Given the description of an element on the screen output the (x, y) to click on. 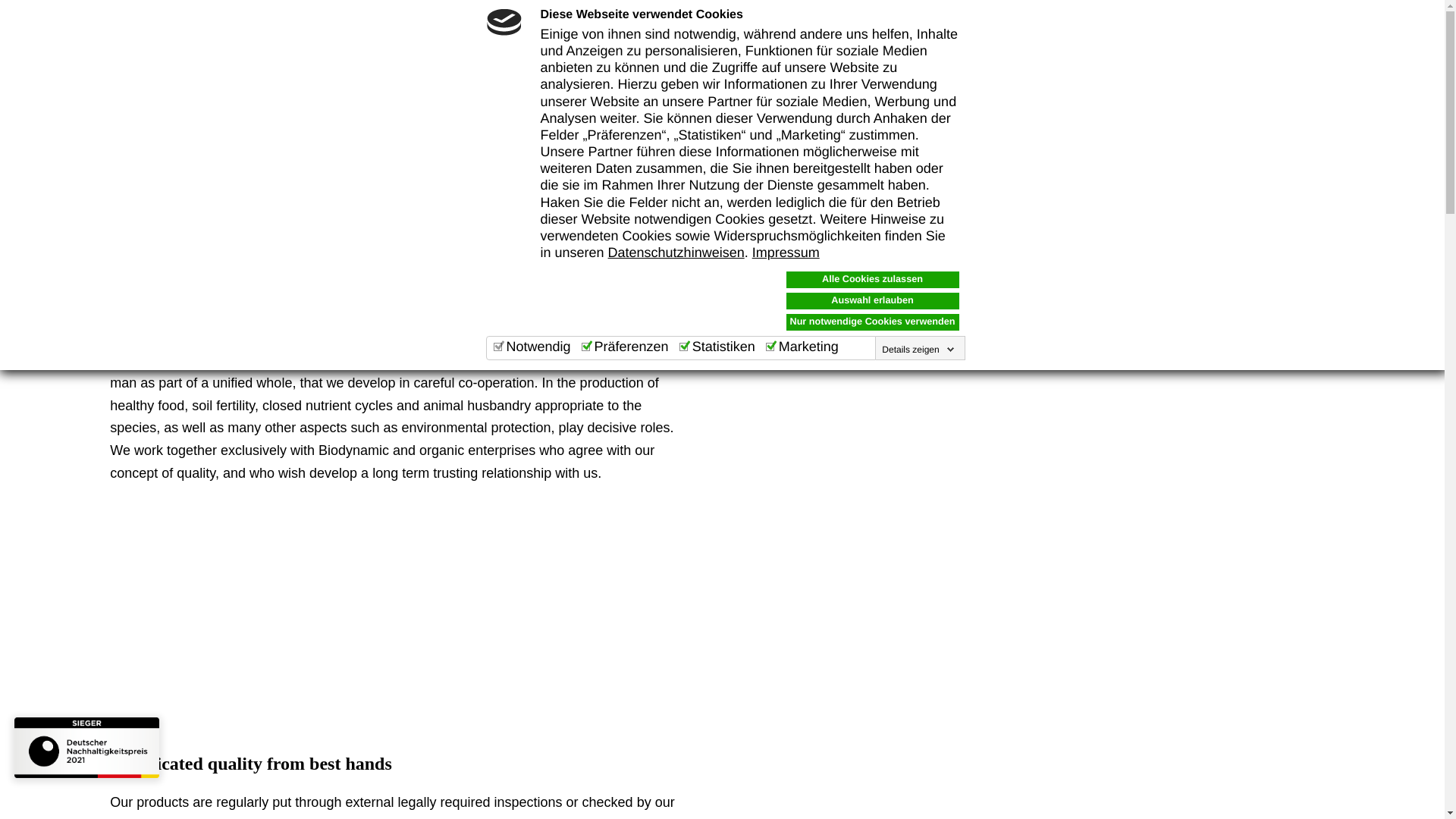
Deutsch (1107, 54)
Alle Cookies zulassen (872, 279)
Details zeigen (917, 349)
Nur notwendige Cookies verwenden (872, 321)
Auswahl erlauben (872, 300)
Impressum (785, 252)
Datenschutzhinweisen (676, 252)
